Given the description of an element on the screen output the (x, y) to click on. 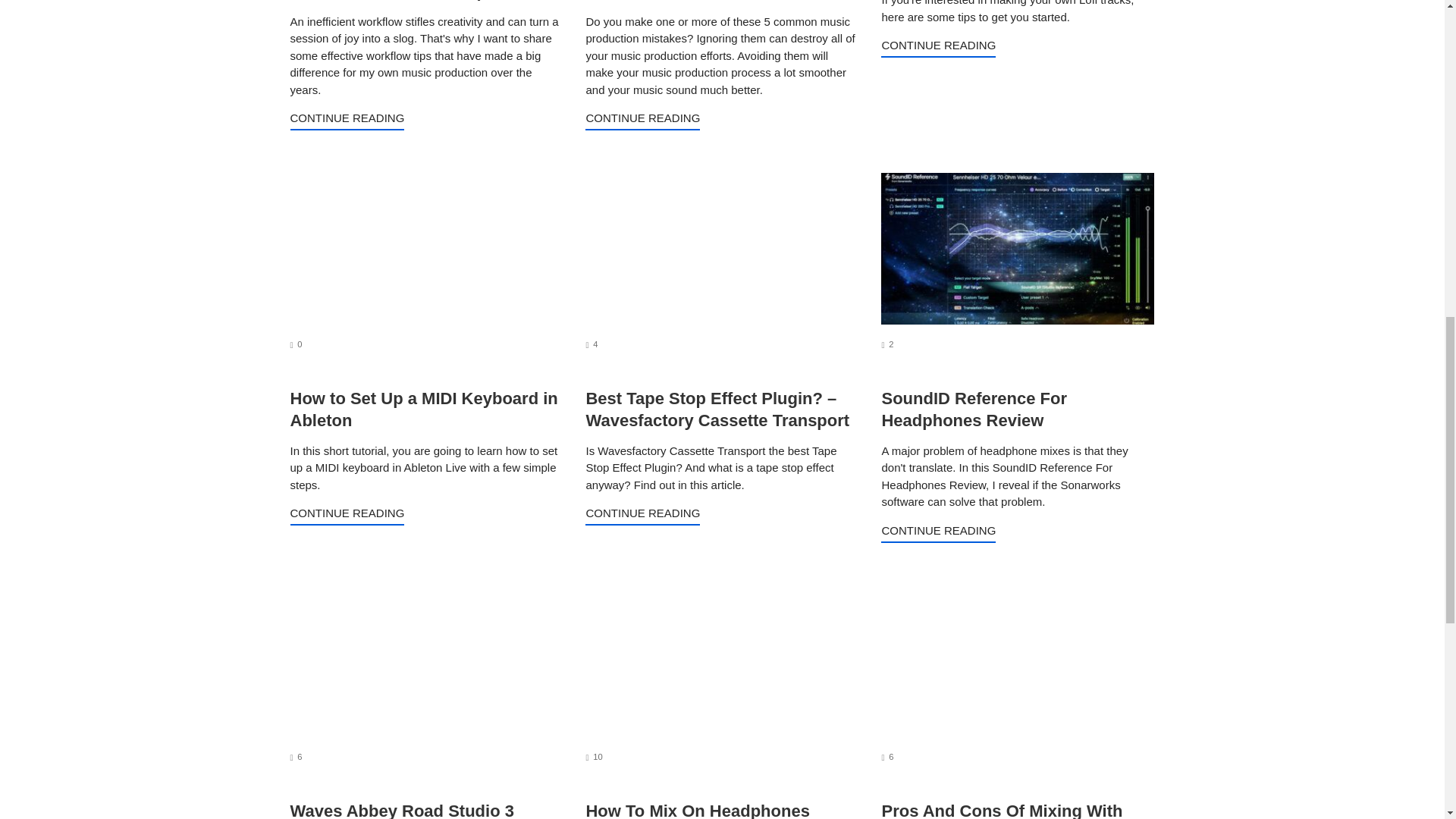
CONTINUE READING (937, 47)
Waves Abbey Road Studio 3 Review (295, 343)
How to Set Up a MIDI Keyboard in Ableton (401, 810)
CONTINUE READING (423, 409)
SoundID Reference For Headphones Review (346, 120)
CONTINUE READING (295, 756)
5 Highly Effective Music Production Workflow Tips (972, 409)
CONTINUE READING (642, 515)
